Given the description of an element on the screen output the (x, y) to click on. 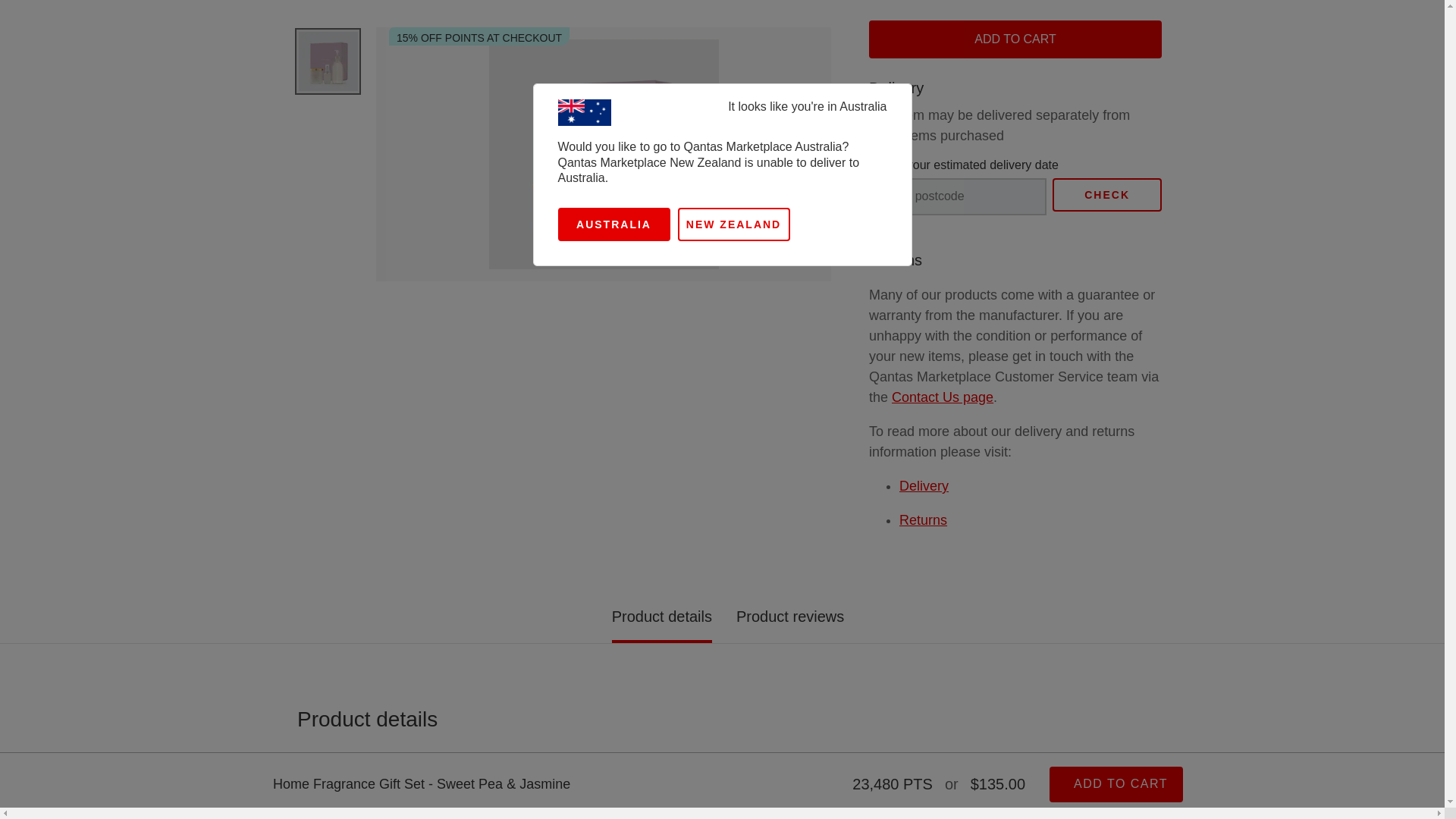
Product details (727, 761)
